Given the description of an element on the screen output the (x, y) to click on. 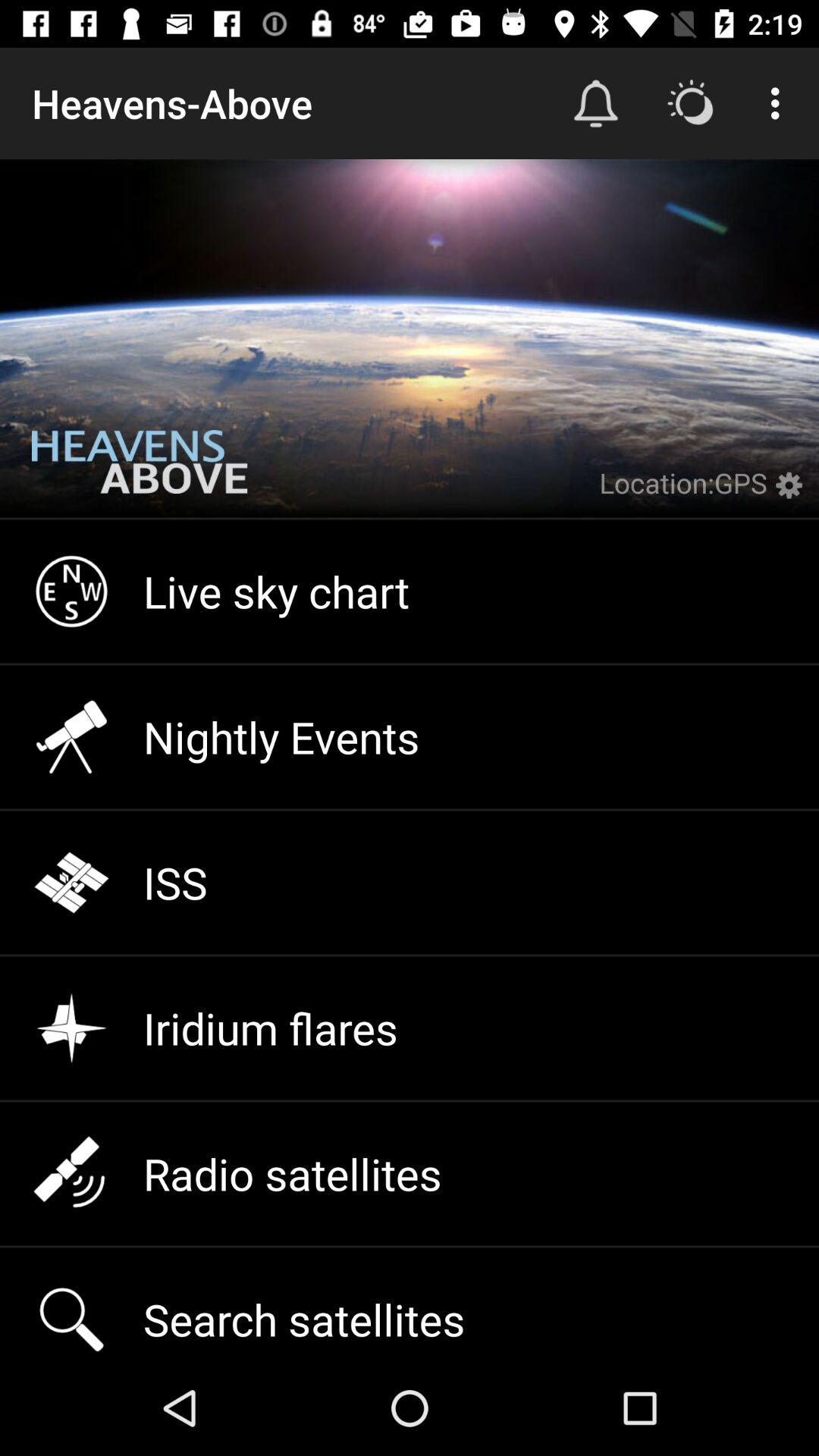
jump to the radio satellites icon (409, 1173)
